Given the description of an element on the screen output the (x, y) to click on. 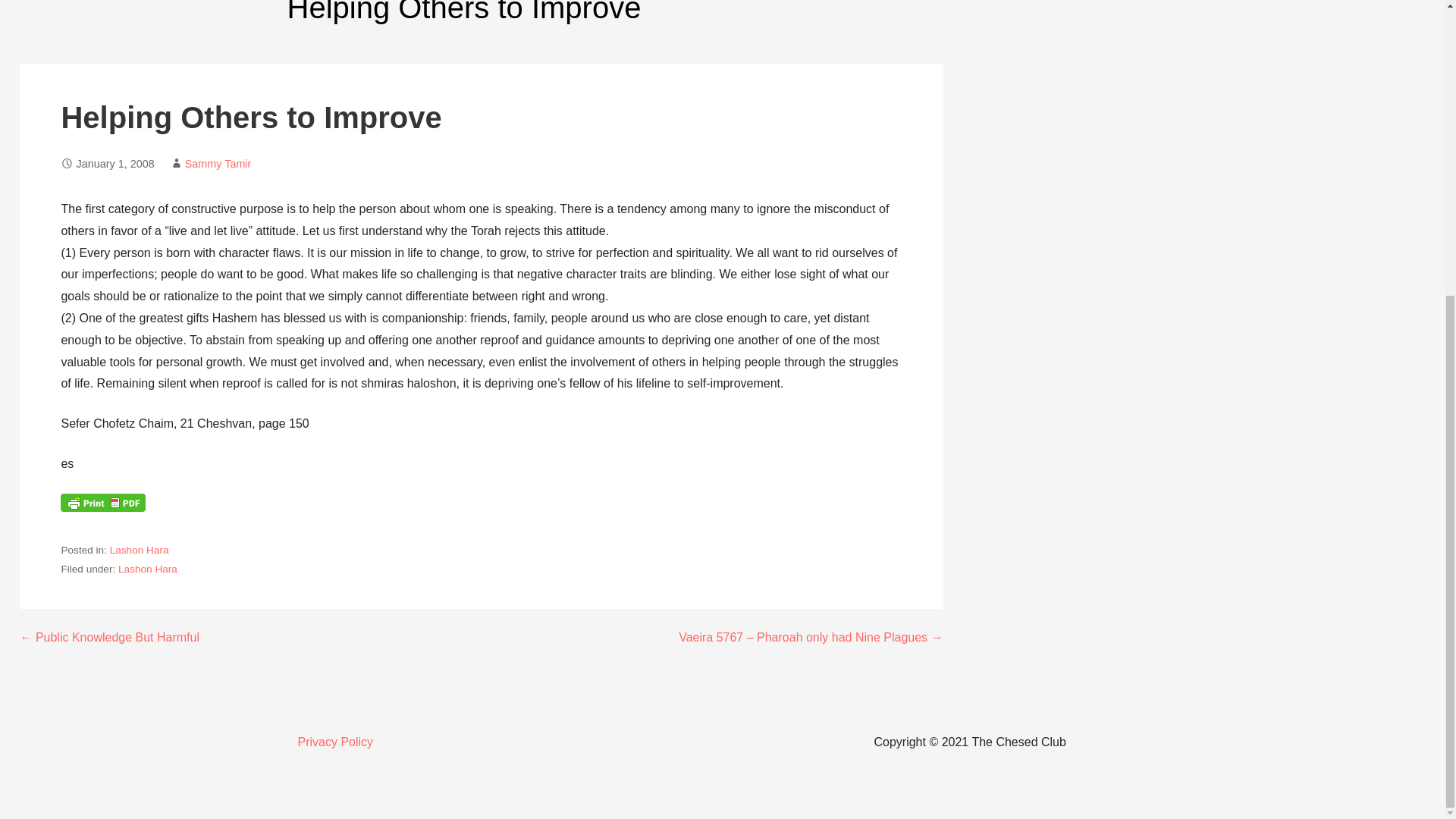
Posts by Sammy Tamir (217, 163)
